Given the description of an element on the screen output the (x, y) to click on. 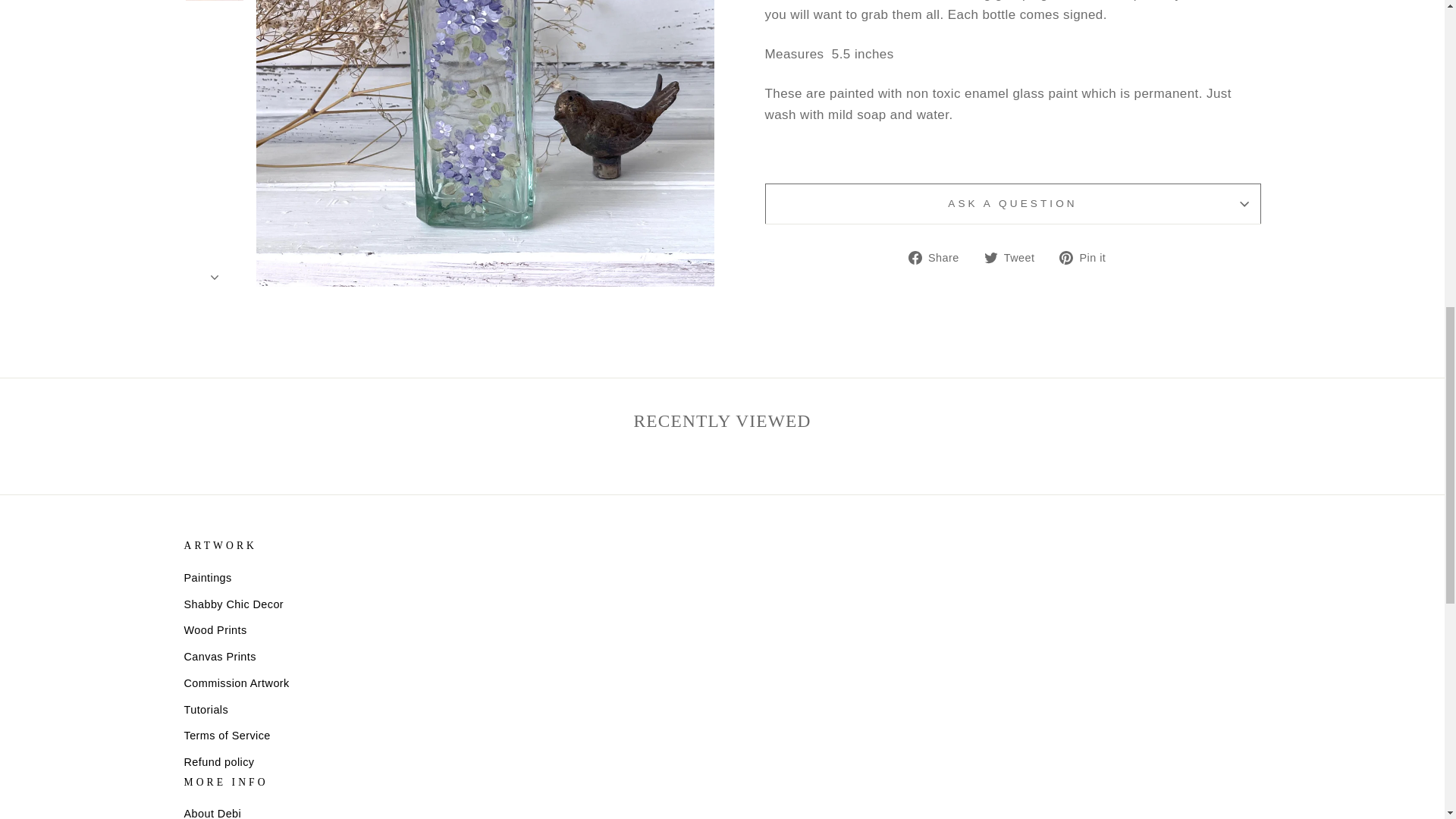
Share on Facebook (939, 257)
Pin on Pinterest (1087, 257)
icon-chevron (214, 60)
Tweet on Twitter (1015, 257)
twitter (990, 257)
